Given the description of an element on the screen output the (x, y) to click on. 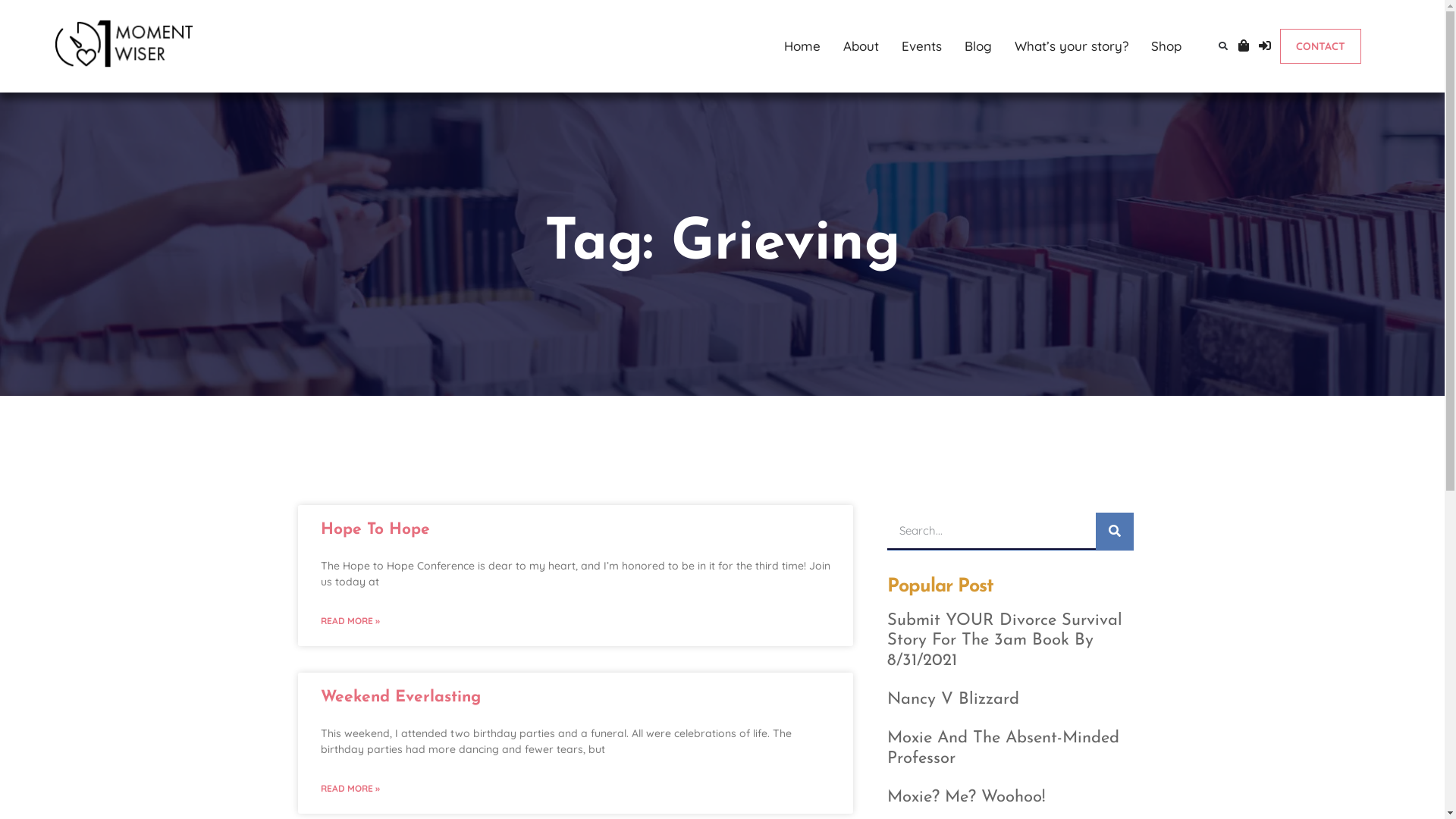
Weekend Everlasting Element type: text (400, 697)
Shop Element type: text (1165, 45)
Home Element type: text (801, 45)
Moxie? Me? Woohoo! Element type: text (965, 797)
Events Element type: text (921, 45)
Moxie And The Absent-Minded Professor Element type: text (1003, 747)
Blog Element type: text (978, 45)
Nancy V Blizzard Element type: text (953, 699)
CONTACT Element type: text (1320, 45)
Hope To Hope Element type: text (374, 529)
About Element type: text (860, 45)
